Given the description of an element on the screen output the (x, y) to click on. 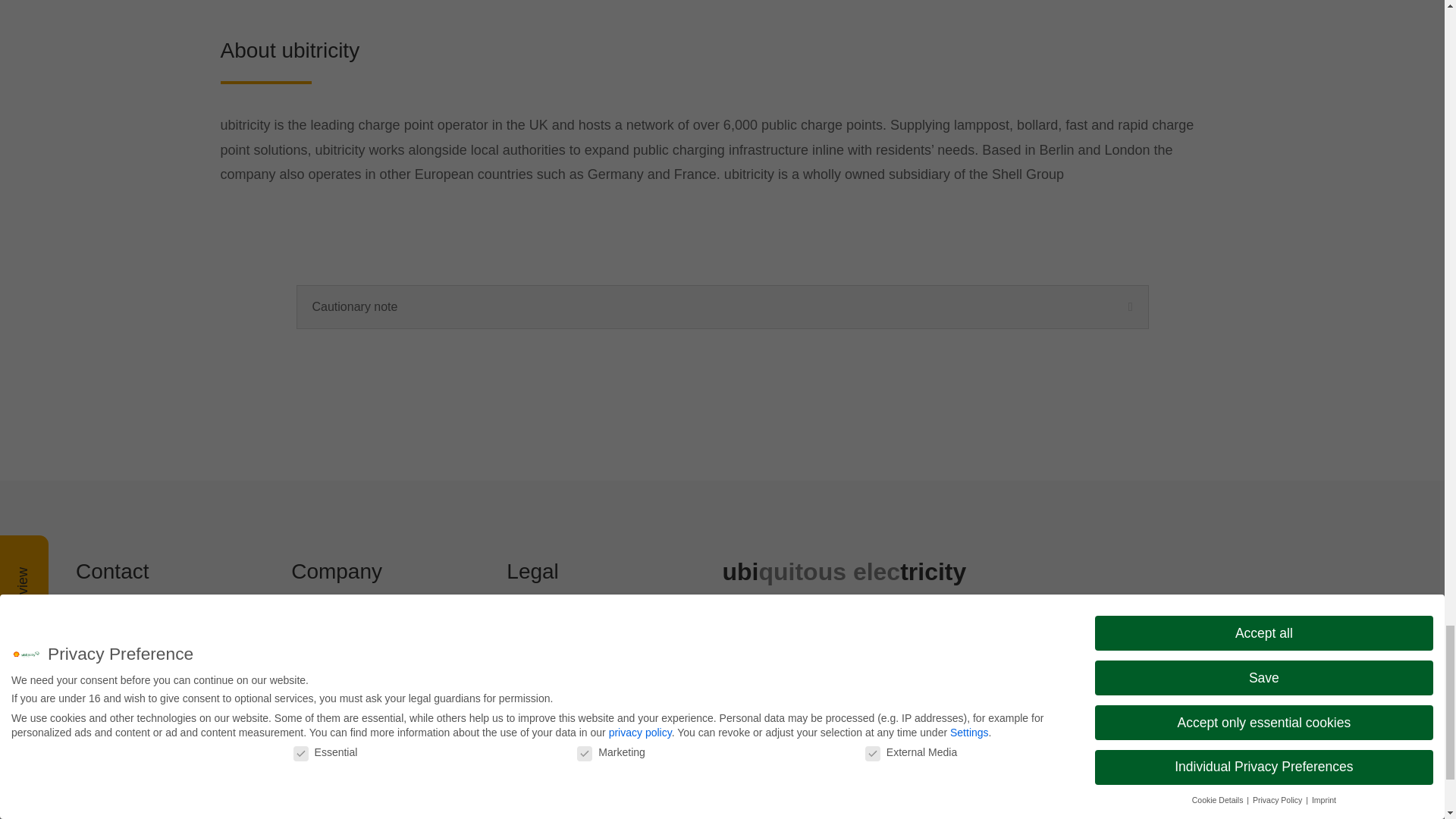
Follow on X (764, 740)
Follow on Youtube (794, 740)
Follow on LinkedIn (733, 740)
